Given the description of an element on the screen output the (x, y) to click on. 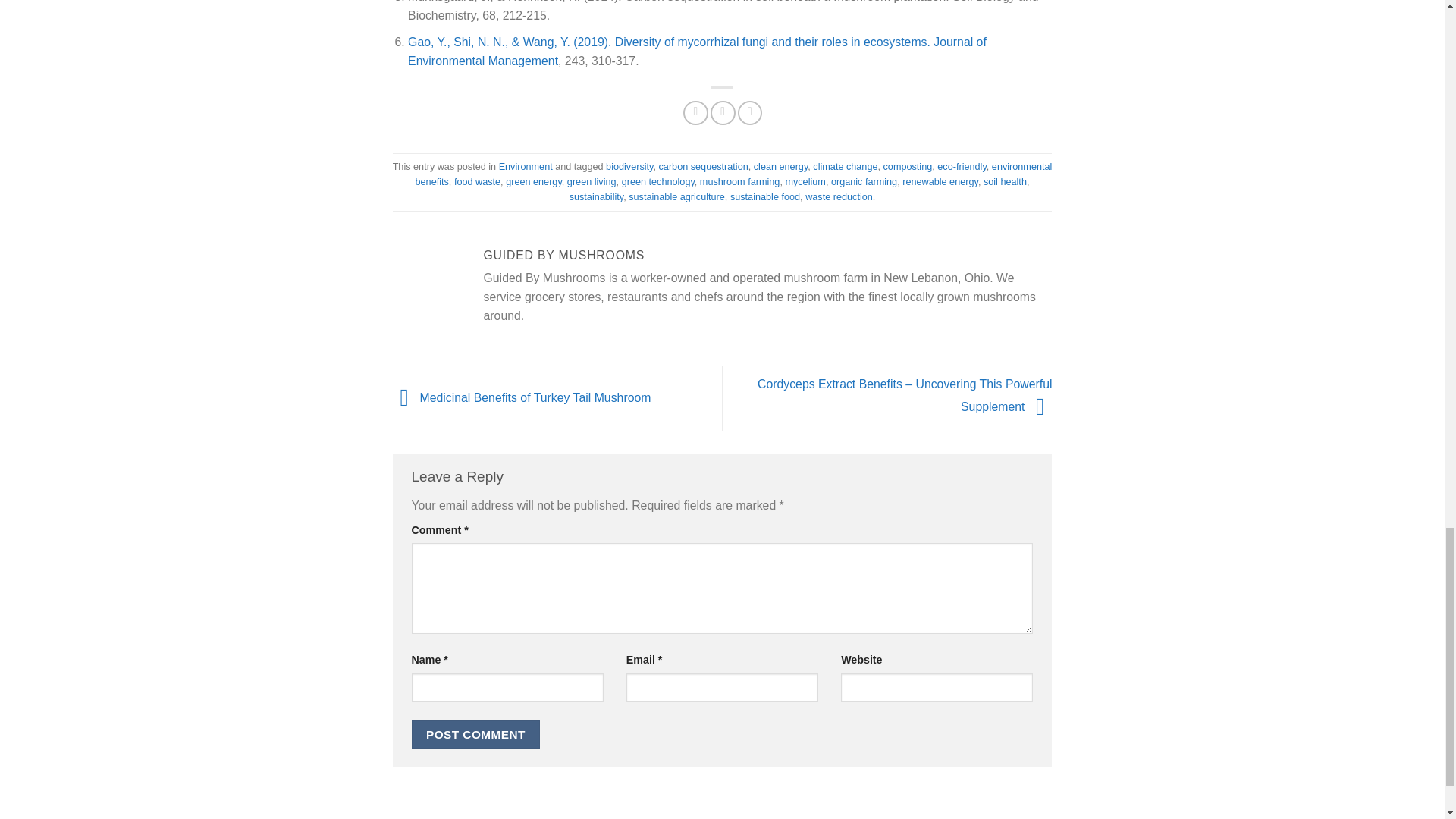
Share on Facebook (694, 113)
Share on LinkedIn (750, 113)
Email to a Friend (722, 113)
Post Comment (475, 735)
